Given the description of an element on the screen output the (x, y) to click on. 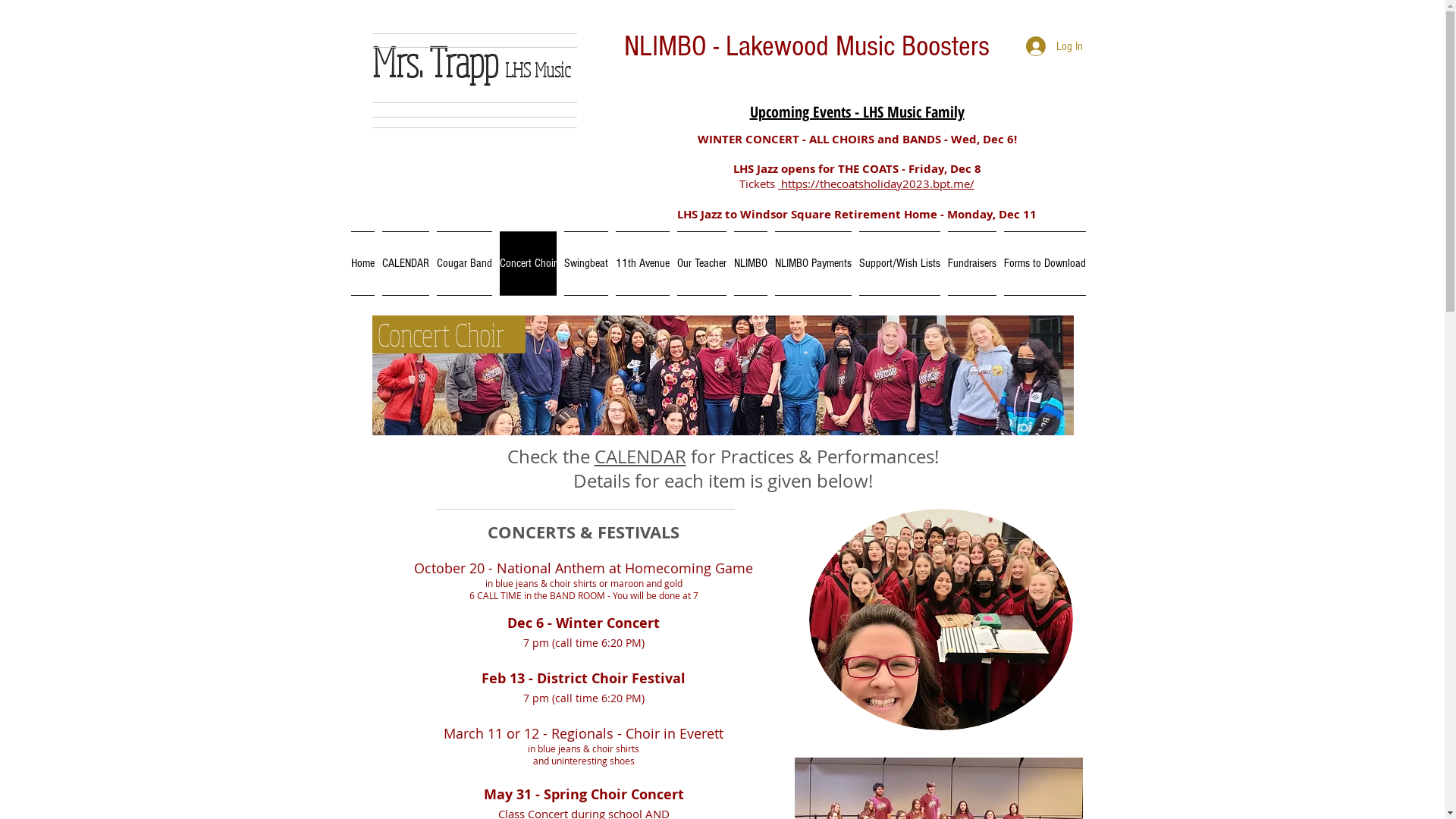
CALENDAR Element type: text (404, 263)
Forms to Download Element type: text (1042, 263)
https://thecoatsholiday2023.bpt.me/ Element type: text (876, 183)
CALENDAR Element type: text (640, 456)
Home Element type: text (363, 263)
LHS Music Element type: text (537, 68)
11th Avenue Element type: text (641, 263)
Swingbeat Element type: text (585, 263)
Fundraisers Element type: text (971, 263)
Cougar Band Element type: text (463, 263)
NLIMBO Element type: text (749, 263)
NLIMBO Payments Element type: text (812, 263)
Log In Element type: text (1053, 45)
Mrs. Trapp Element type: text (437, 61)
Our Teacher Element type: text (701, 263)
Concert Choir Element type: text (527, 263)
Support/Wish Lists Element type: text (899, 263)
